Given the description of an element on the screen output the (x, y) to click on. 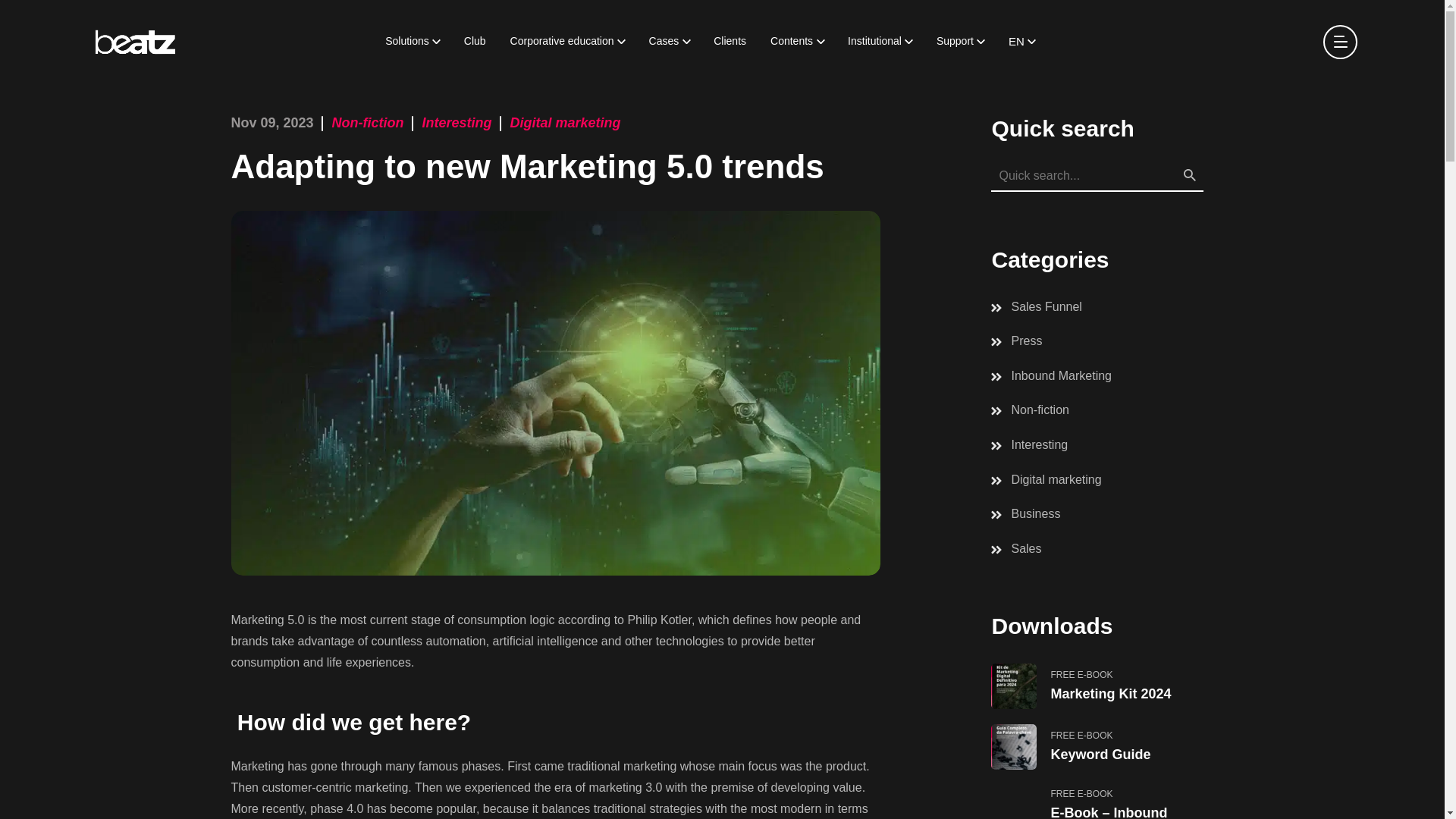
Corporative education (567, 41)
Institutional (879, 41)
